Given the description of an element on the screen output the (x, y) to click on. 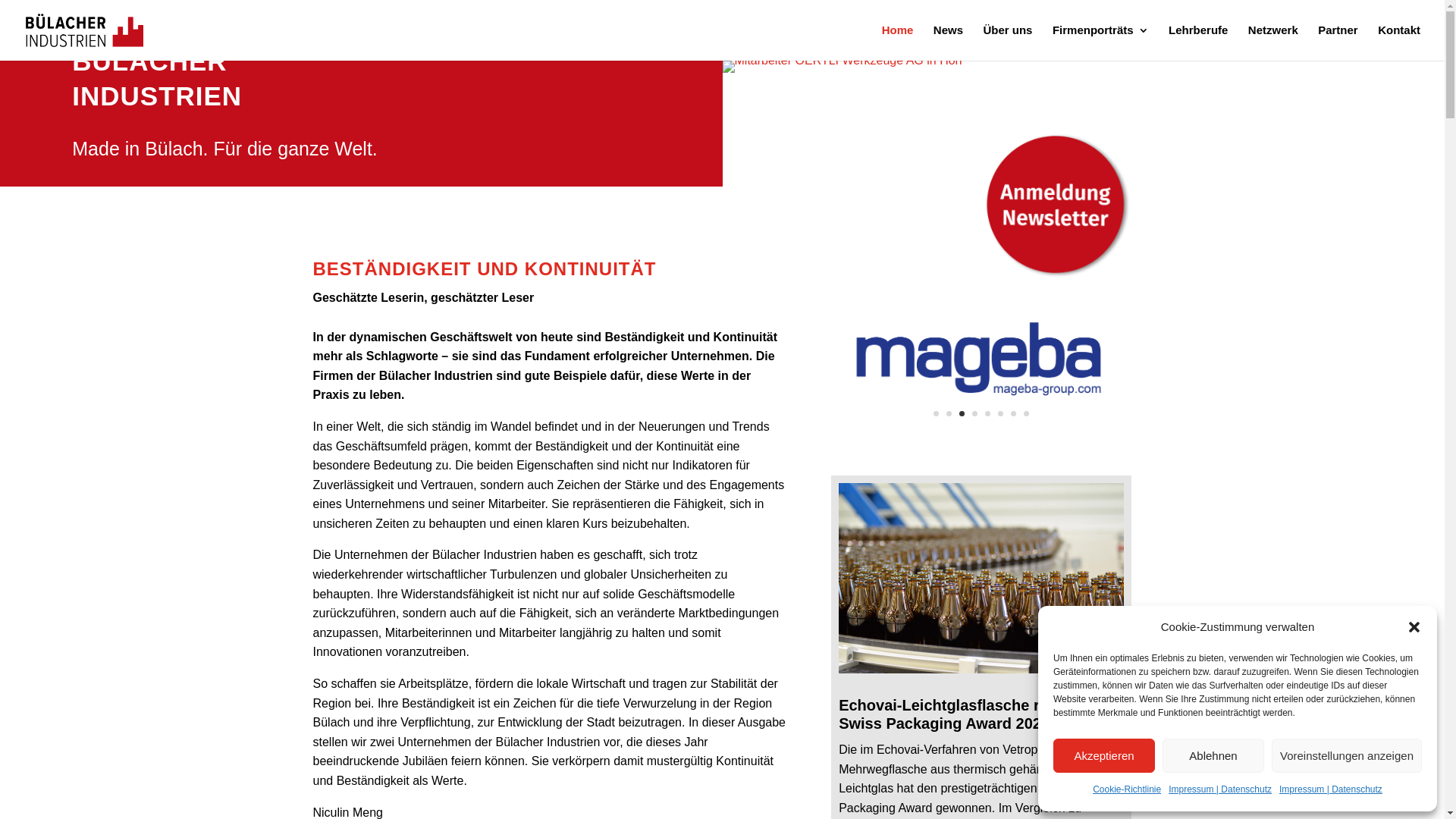
5 Element type: text (987, 413)
Impressum | Datenschutz Element type: text (1219, 790)
8 Element type: text (1026, 413)
7 Element type: text (1013, 413)
Lehrberufe Element type: text (1197, 42)
Firma OERTLI Werkzeuge AG Mitarbeiter in der Produktion Element type: hover (841, 59)
6 Element type: text (1000, 413)
Kontakt Element type: text (1398, 42)
News Element type: text (948, 42)
Partner Element type: text (1337, 42)
1 Element type: text (935, 413)
Netzwerk Element type: text (1273, 42)
4 Element type: text (974, 413)
Cookie-Richtlinie Element type: text (1126, 790)
Ablehnen Element type: text (1213, 755)
2 Element type: text (948, 413)
3 Element type: text (961, 413)
Voreinstellungen anzeigen Element type: text (1346, 755)
Home Element type: text (897, 42)
Impressum | Datenschutz Element type: text (1330, 790)
Akzeptieren Element type: text (1103, 755)
